Given the description of an element on the screen output the (x, y) to click on. 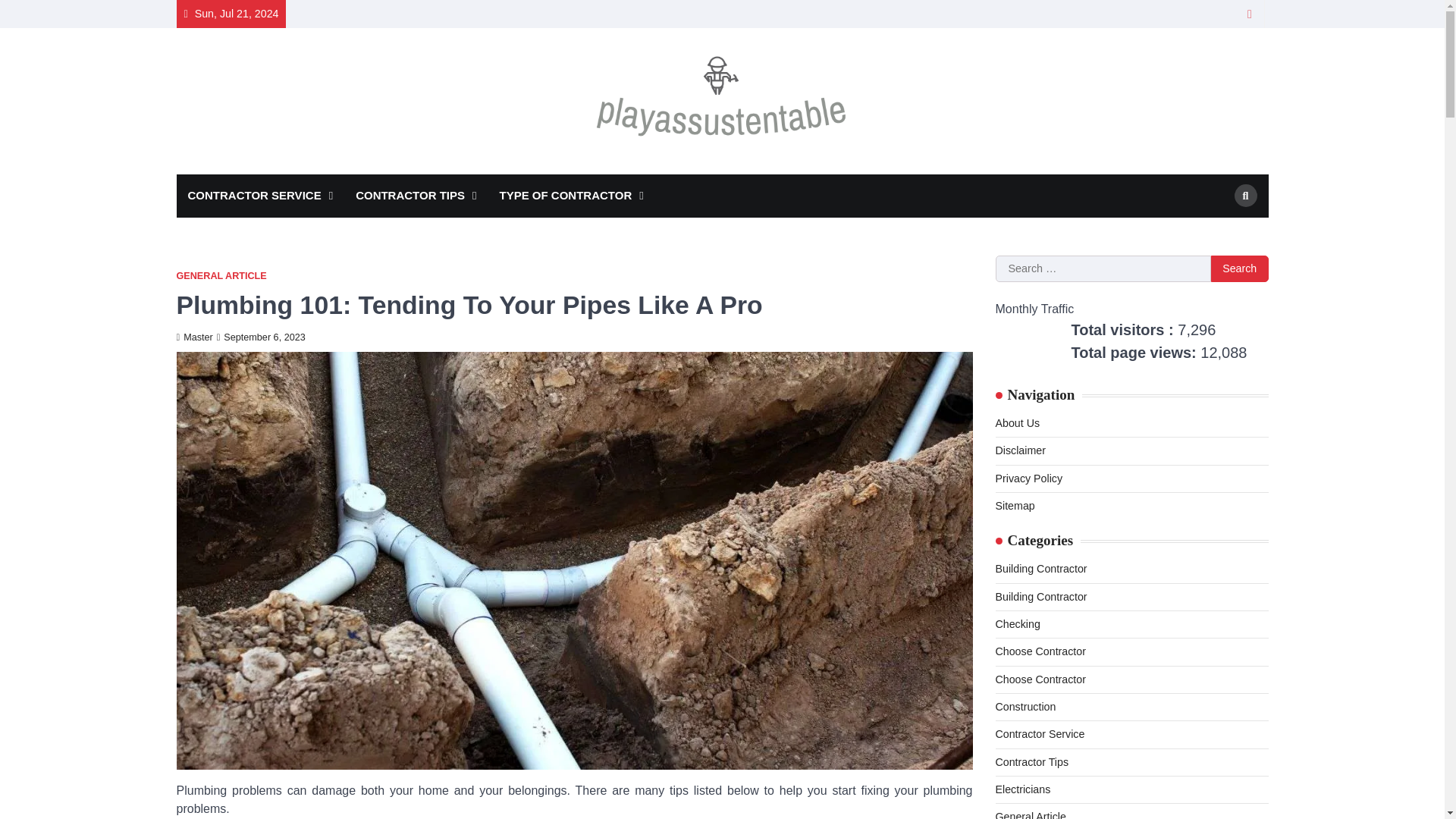
Search (1239, 268)
Search (1217, 230)
View Random Post (1249, 13)
Disclaimer (1019, 450)
September 6, 2023 (260, 337)
About Us (1016, 422)
Privacy Policy (1028, 478)
Checking (1016, 623)
Search (1239, 268)
Master (194, 337)
CONTRACTOR SERVICE (259, 195)
Search (1245, 195)
Search (1239, 268)
GENERAL ARTICLE (221, 276)
Building Contractor (1040, 596)
